Given the description of an element on the screen output the (x, y) to click on. 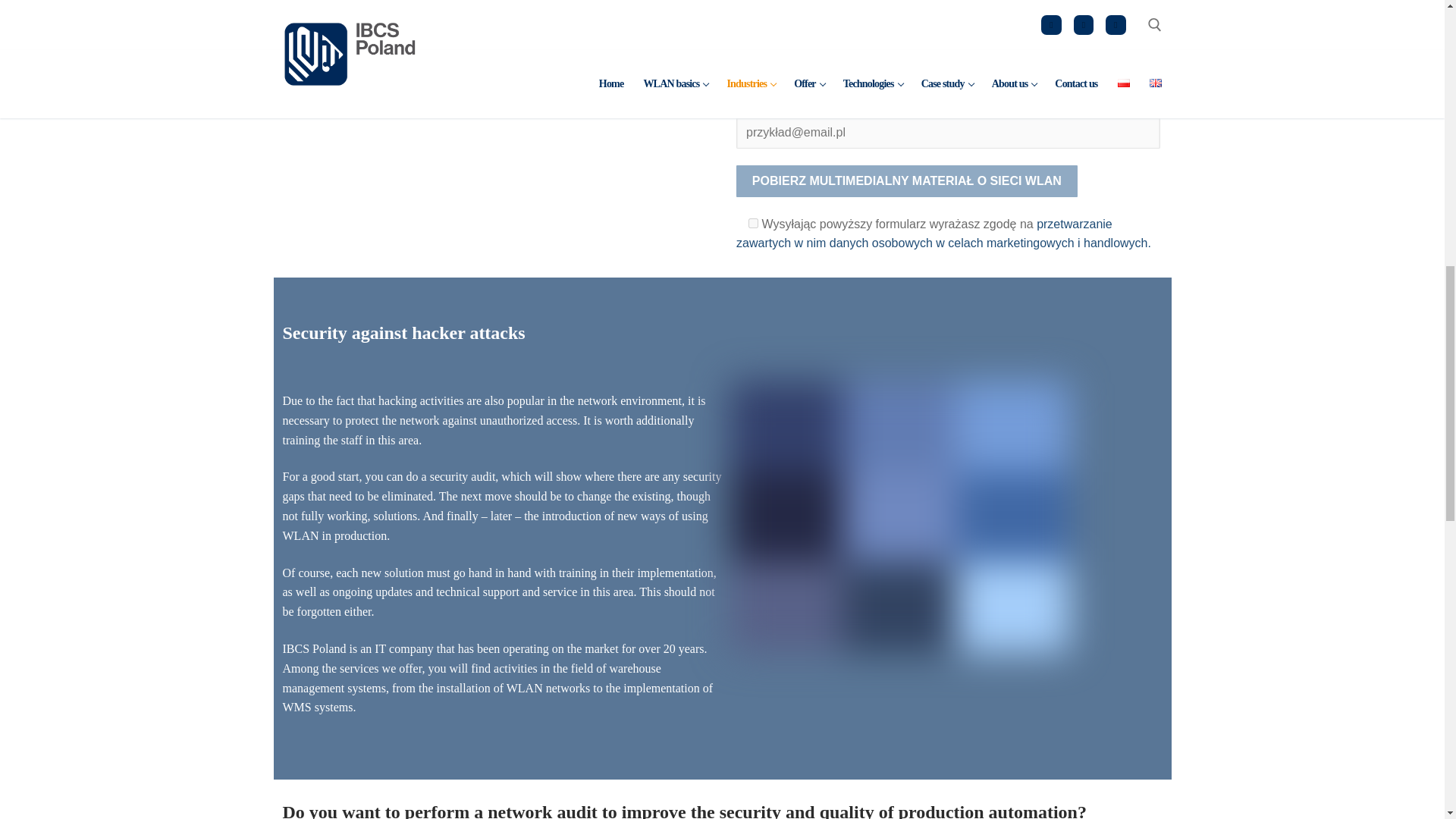
projekt-bez-tytulu17-1-640x907-removebg-preview (949, 21)
1 (753, 223)
Automatyzacja produkcji (898, 516)
